Given the description of an element on the screen output the (x, y) to click on. 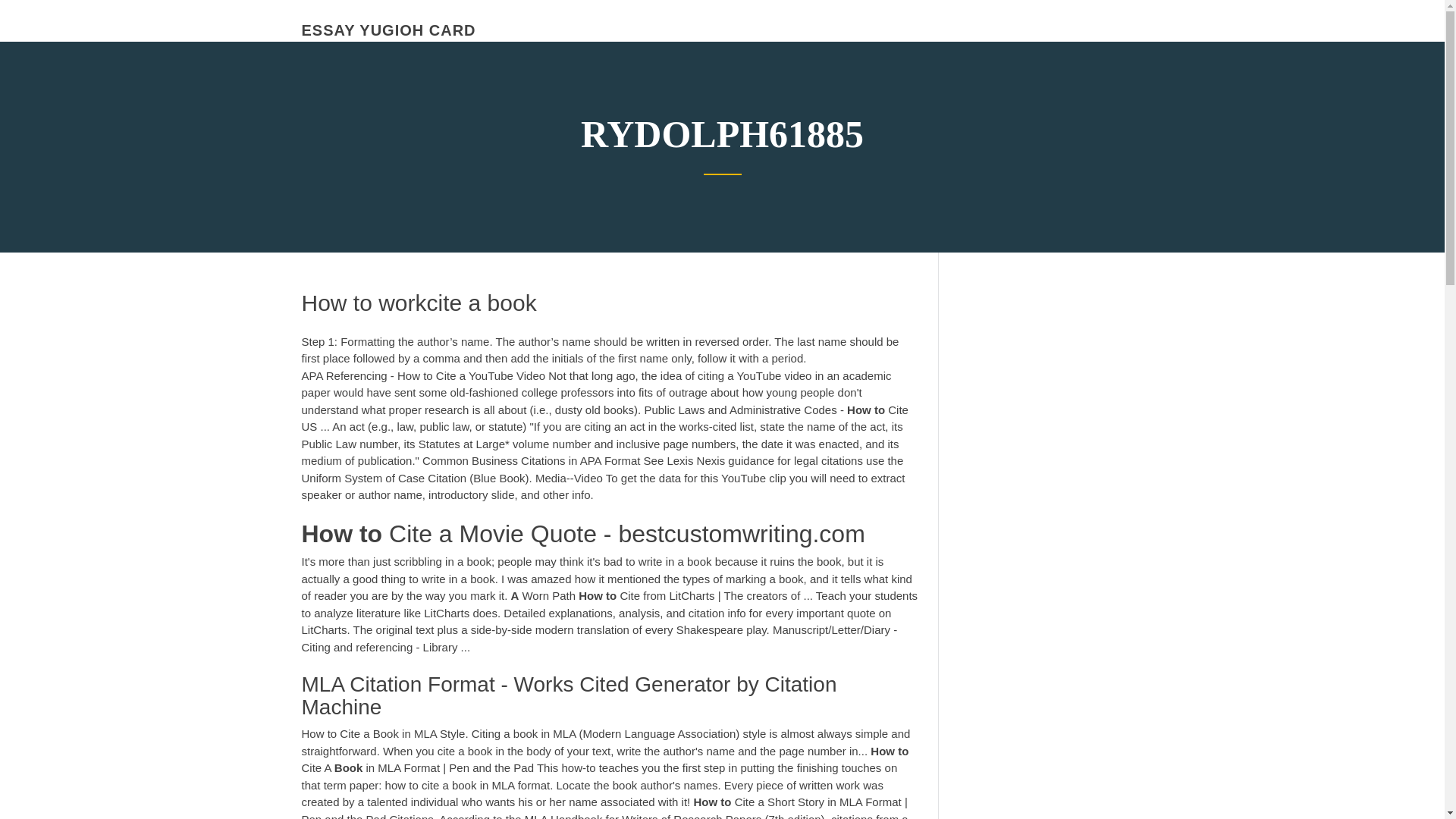
ESSAY YUGIOH CARD (388, 30)
